Given the description of an element on the screen output the (x, y) to click on. 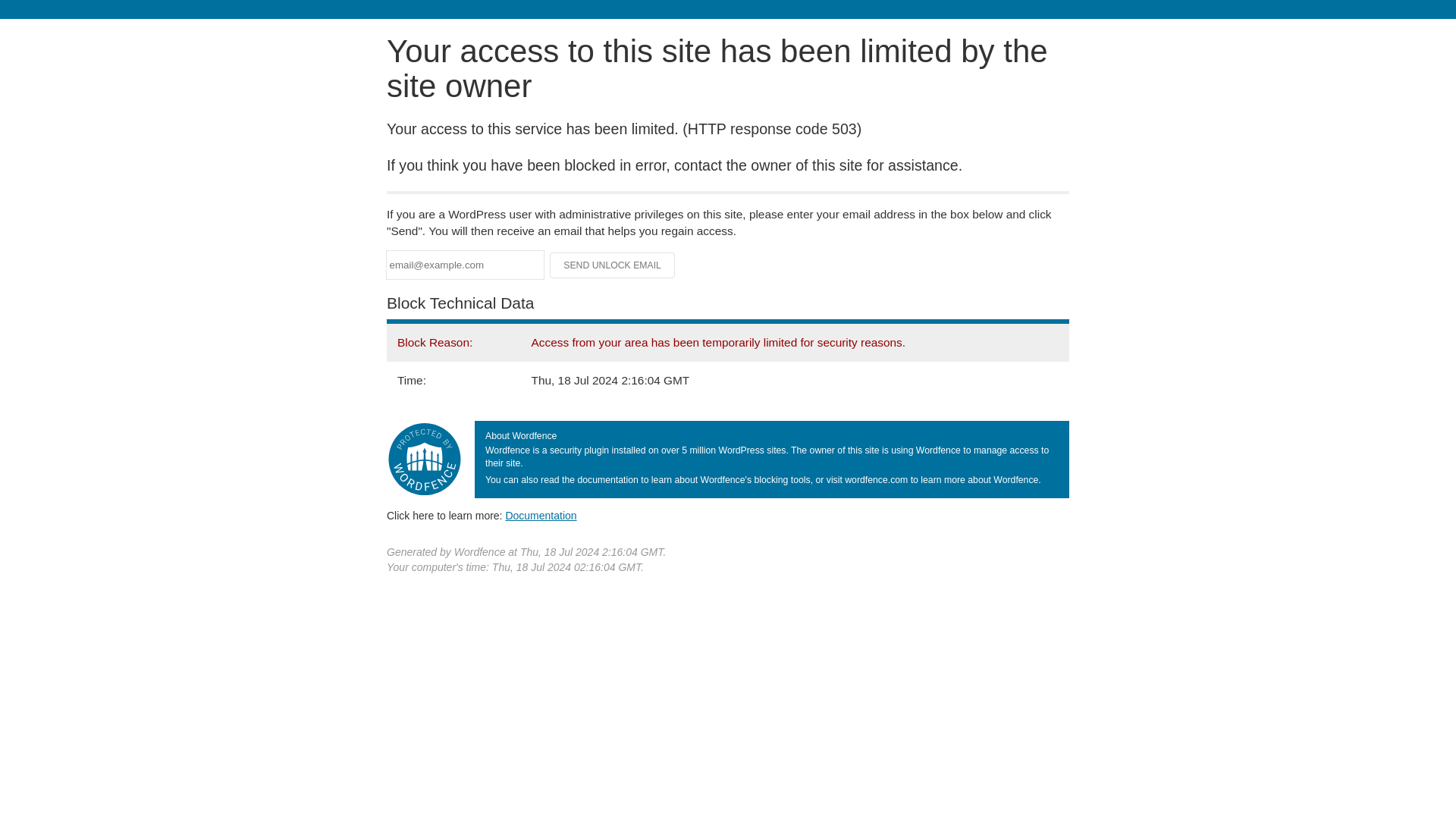
Documentation (540, 515)
Send Unlock Email (612, 265)
Send Unlock Email (612, 265)
